Given the description of an element on the screen output the (x, y) to click on. 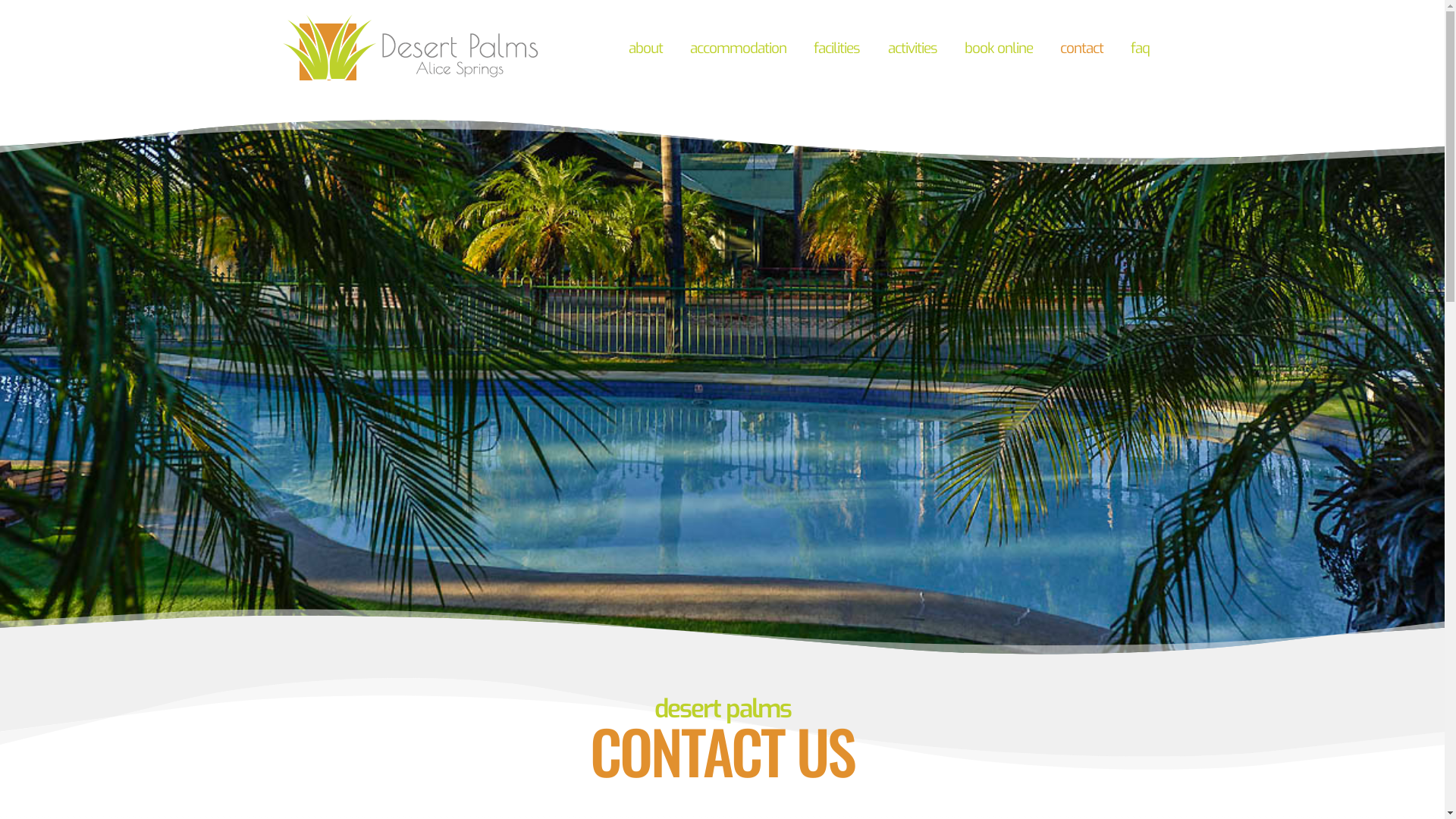
faq Element type: text (1139, 49)
Desert Palms Alice Springs Element type: hover (414, 78)
desert-palms-footer Element type: hover (414, 49)
accommodation Element type: text (737, 49)
contact Element type: text (1081, 49)
activities Element type: text (911, 49)
about Element type: text (645, 49)
facilities Element type: text (836, 49)
book online Element type: text (998, 49)
